Given the description of an element on the screen output the (x, y) to click on. 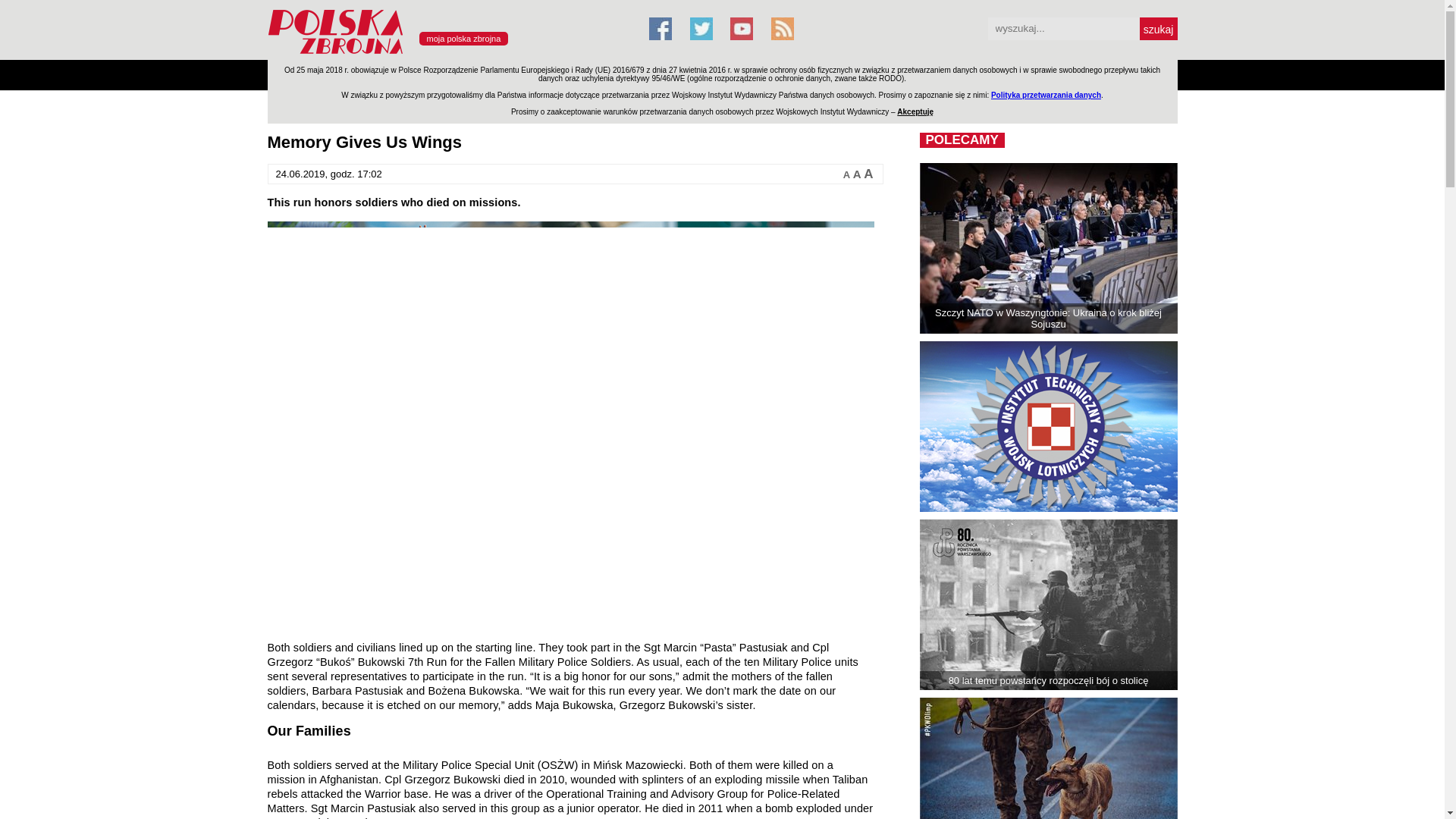
Wideo (829, 74)
Polityka przetwarzania danych (1045, 94)
szukaj (1157, 28)
Polityka (473, 74)
moja polska zbrojna (463, 38)
Polska Zbrojna (448, 53)
Sport (684, 74)
Misje (426, 74)
Galerie (781, 74)
Prawo (522, 74)
